Given the description of an element on the screen output the (x, y) to click on. 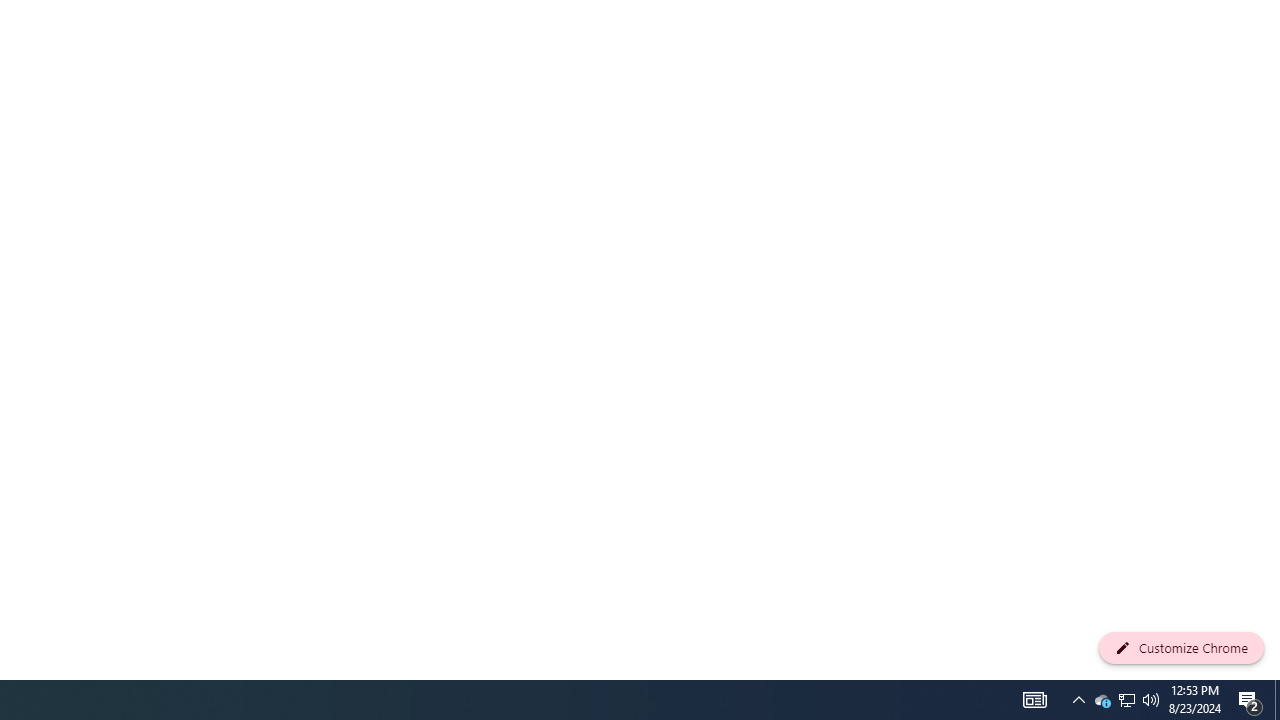
Customize Chrome (1181, 647)
